Given the description of an element on the screen output the (x, y) to click on. 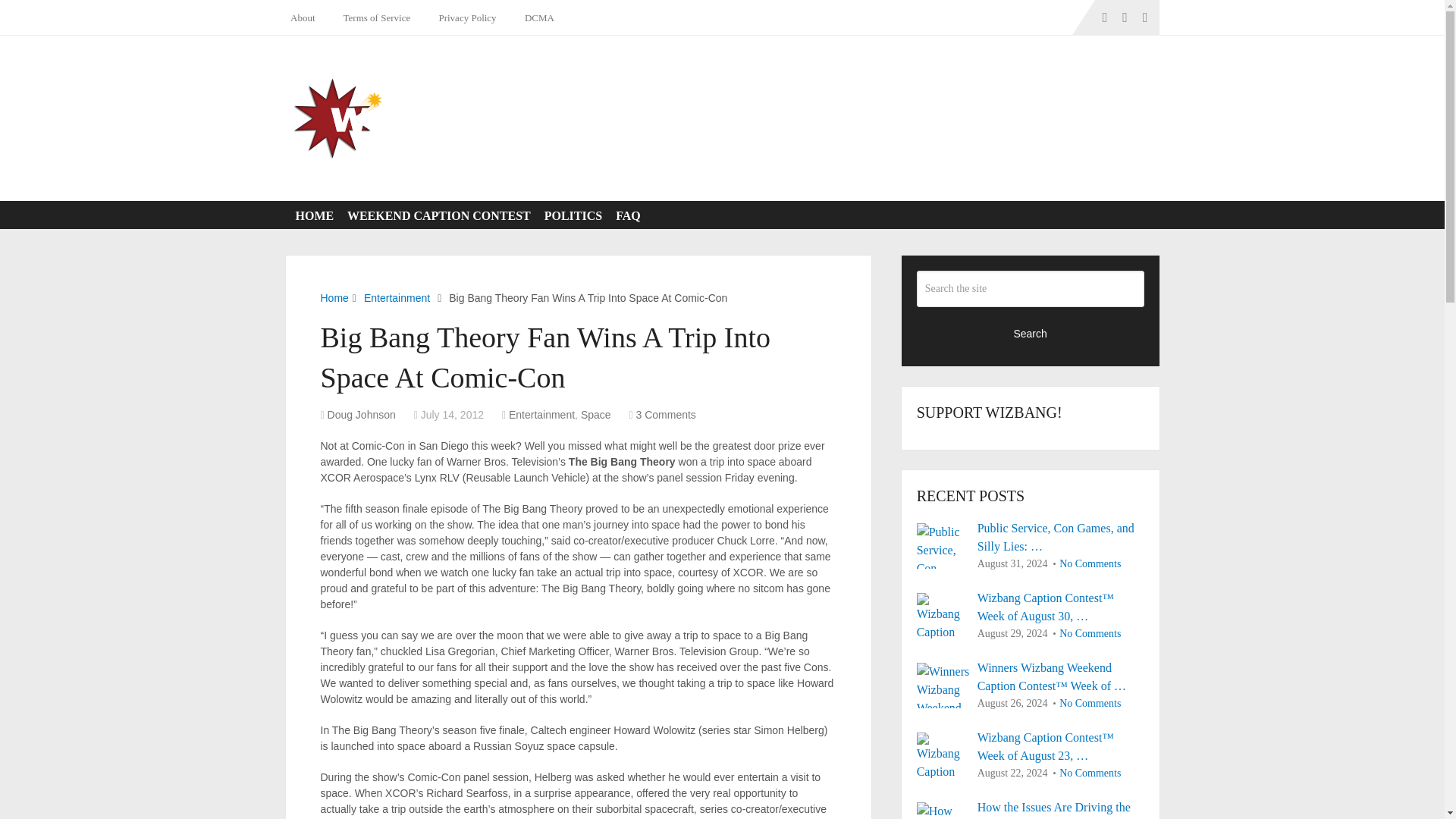
Terms of Service (374, 17)
FAQ (625, 216)
Posts by Doug Johnson (361, 414)
View all posts in Entertainment (541, 414)
Entertainment (396, 297)
Doug Johnson (361, 414)
About (305, 17)
View all posts in Space (595, 414)
